Given the description of an element on the screen output the (x, y) to click on. 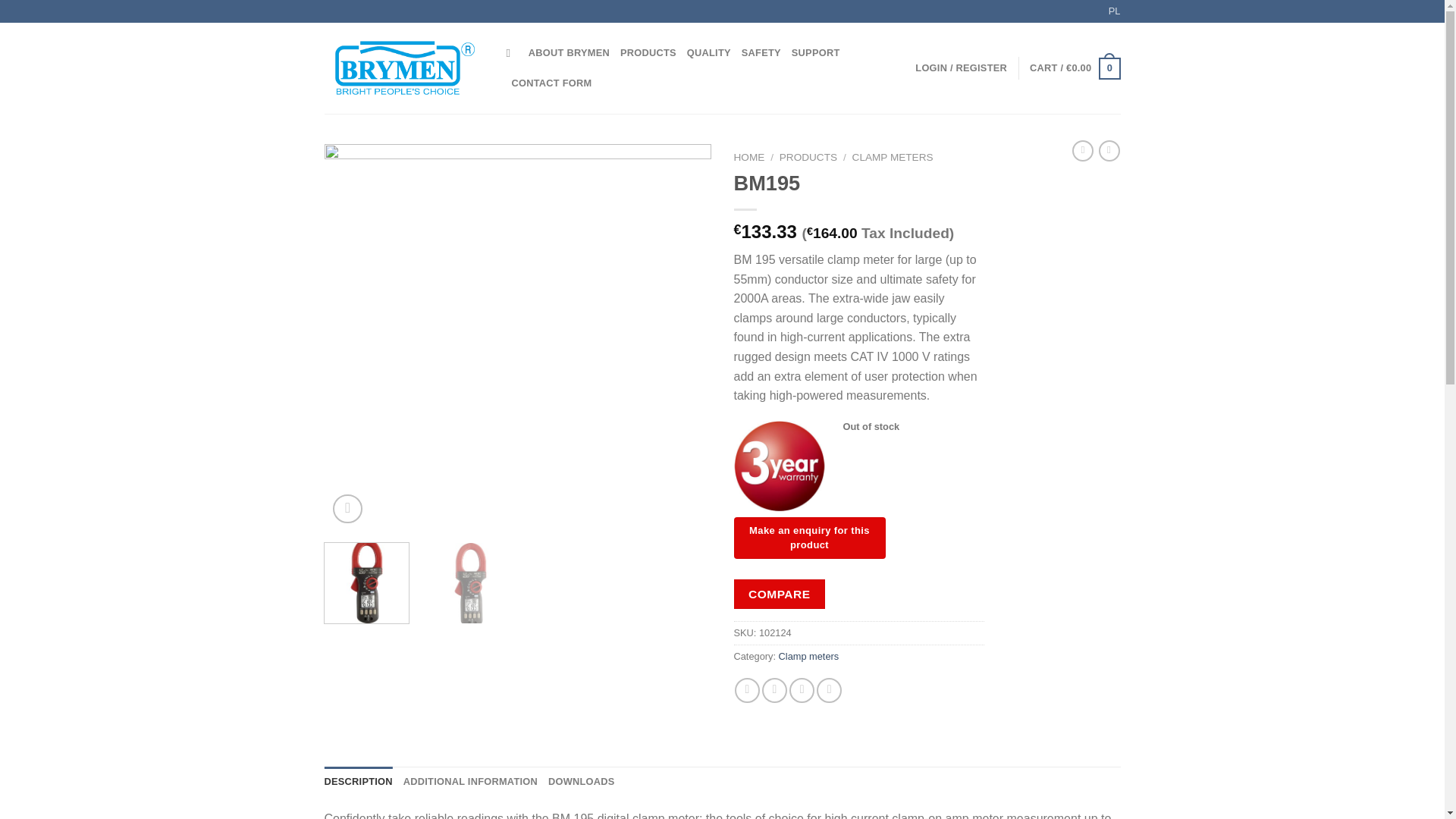
QUALITY (708, 52)
SAFETY (760, 52)
Zoom (347, 509)
HOME (749, 156)
Brymen - BRYMEN Technology Corporation (403, 68)
CLAMP METERS (892, 156)
Email to a Friend (801, 690)
PRODUCTS (807, 156)
Clamp meters (809, 655)
ABOUT BRYMEN (569, 52)
